Given the description of an element on the screen output the (x, y) to click on. 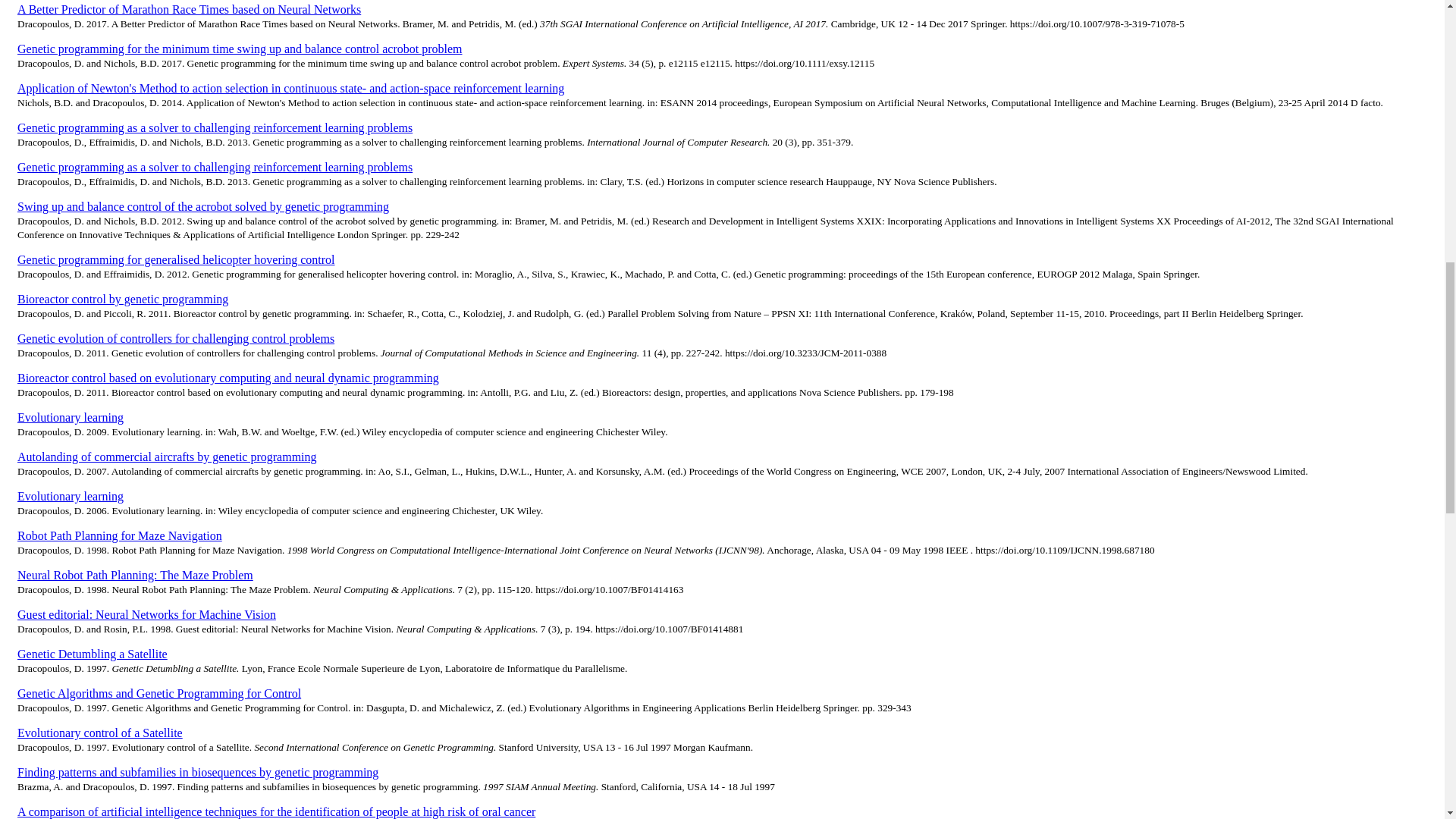
Robot Path Planning for Maze Navigation (119, 535)
Genetic Detumbling a Satellite (92, 653)
Evolutionary learning (70, 495)
Evolutionary control of a Satellite (100, 732)
Neural Robot Path Planning: The Maze Problem (135, 574)
